Given the description of an element on the screen output the (x, y) to click on. 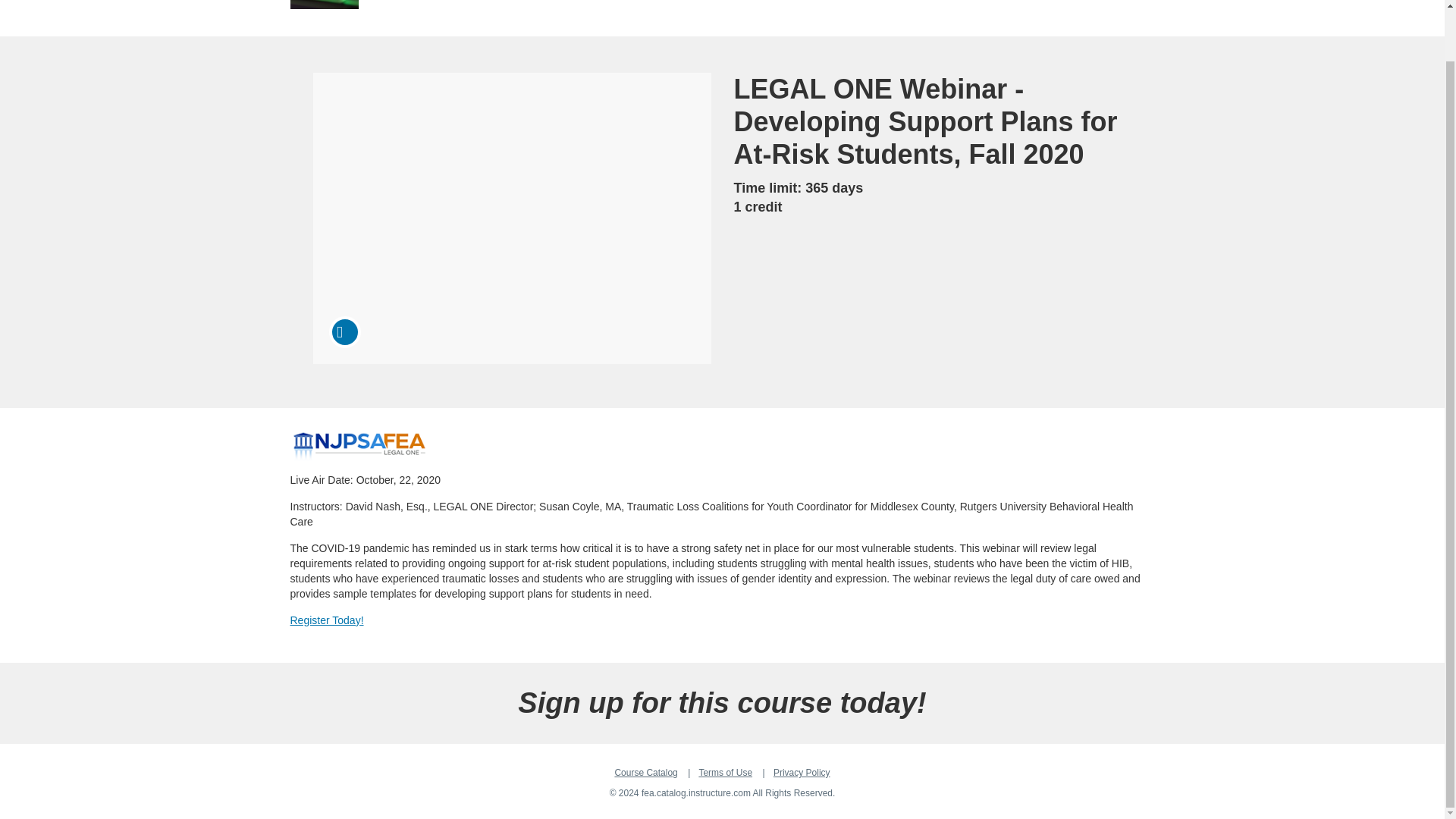
Privacy Policy (801, 772)
LEGAL ONE Webinars (358, 445)
Terms of Use (725, 772)
Register Today! (325, 620)
Course (345, 332)
Course Catalog (645, 772)
